Given the description of an element on the screen output the (x, y) to click on. 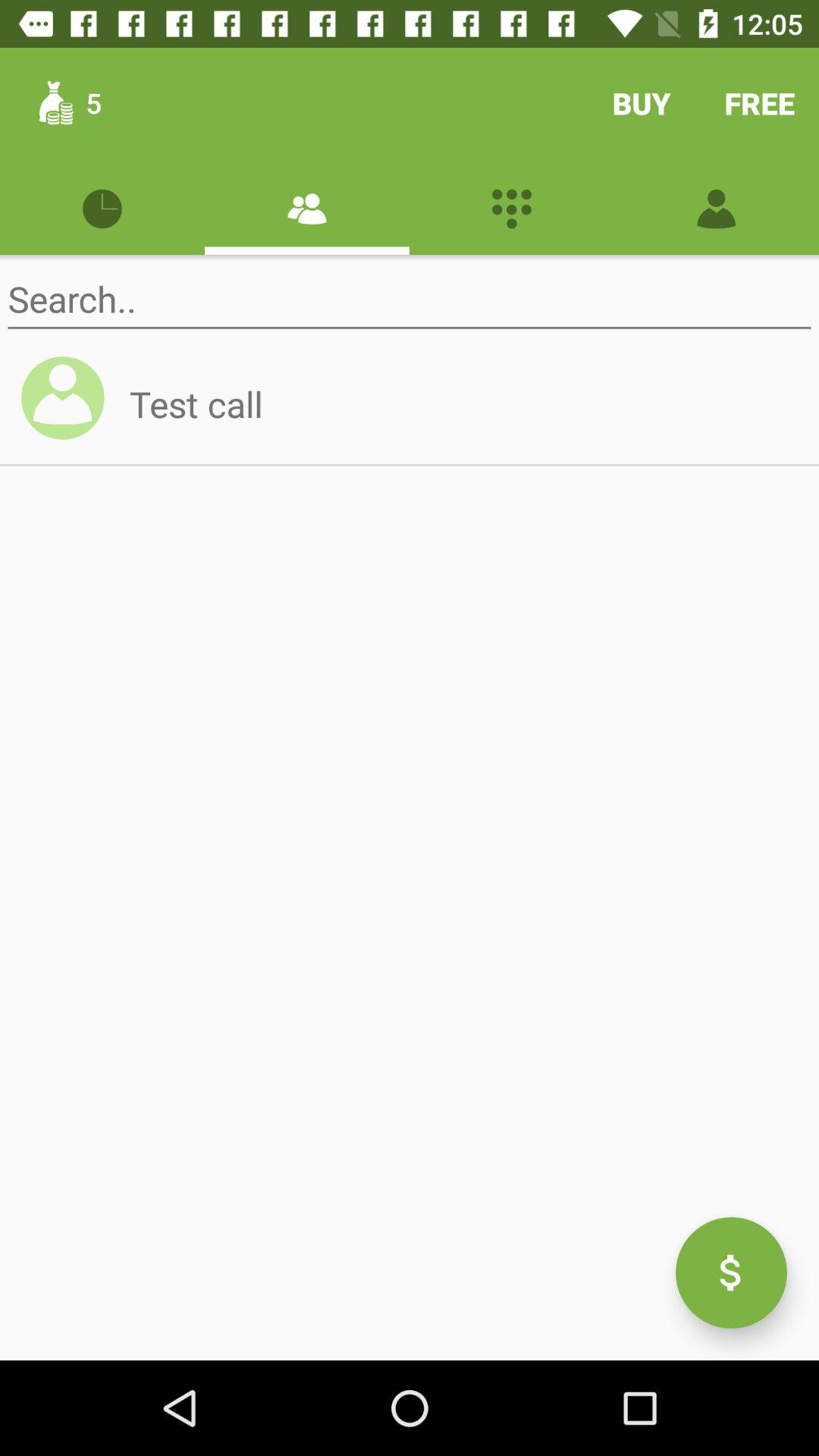
turn on the icon to the left of the test call item (69, 404)
